Given the description of an element on the screen output the (x, y) to click on. 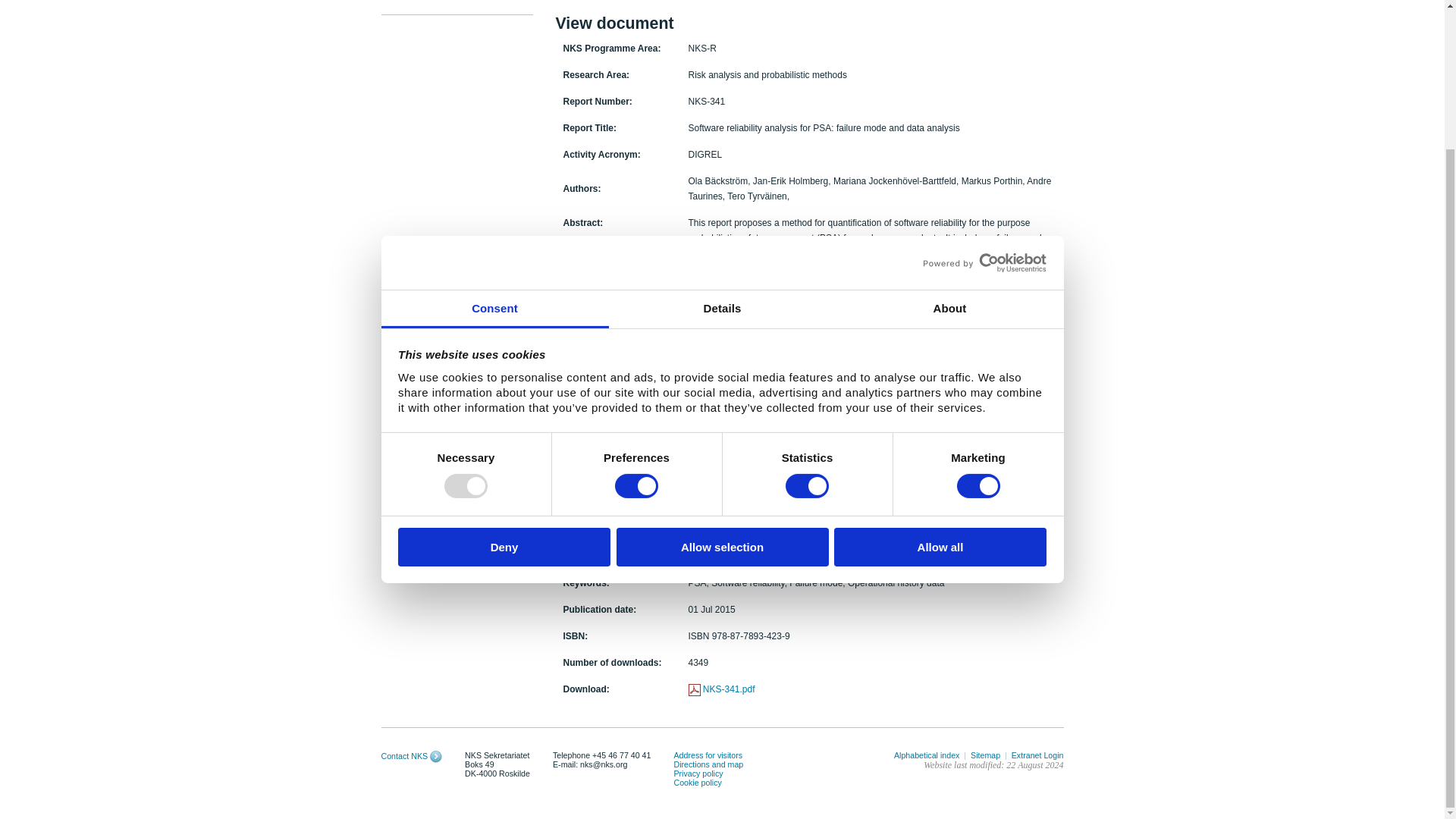
Consent (494, 136)
Cookie policy (696, 782)
About (948, 136)
Privacy Policy (697, 773)
Contact NKS (435, 755)
Map (707, 764)
Details (721, 136)
Deny (503, 374)
Address for visitors (707, 755)
Allow selection (721, 374)
